Given the description of an element on the screen output the (x, y) to click on. 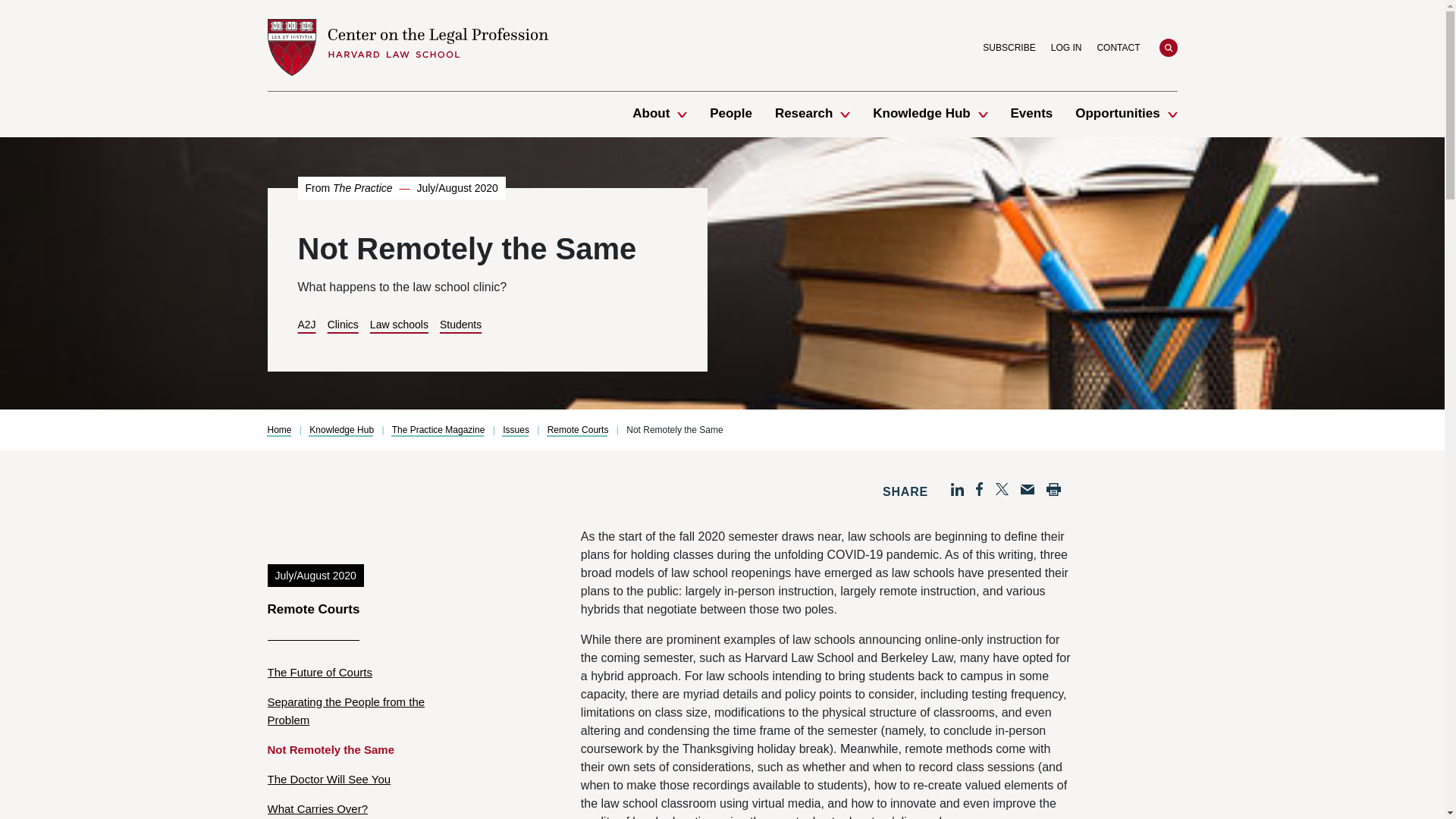
SUBSCRIBE (1008, 47)
About (650, 113)
Print (1053, 489)
People (731, 113)
Email (1026, 489)
Research (803, 113)
Twitter (1000, 489)
Events (1031, 113)
Harvard Law School (406, 47)
Opportunities (1116, 113)
Knowledge Hub (920, 113)
LinkedIn (956, 489)
LOG IN (1066, 47)
CONTACT (1118, 47)
